Given the description of an element on the screen output the (x, y) to click on. 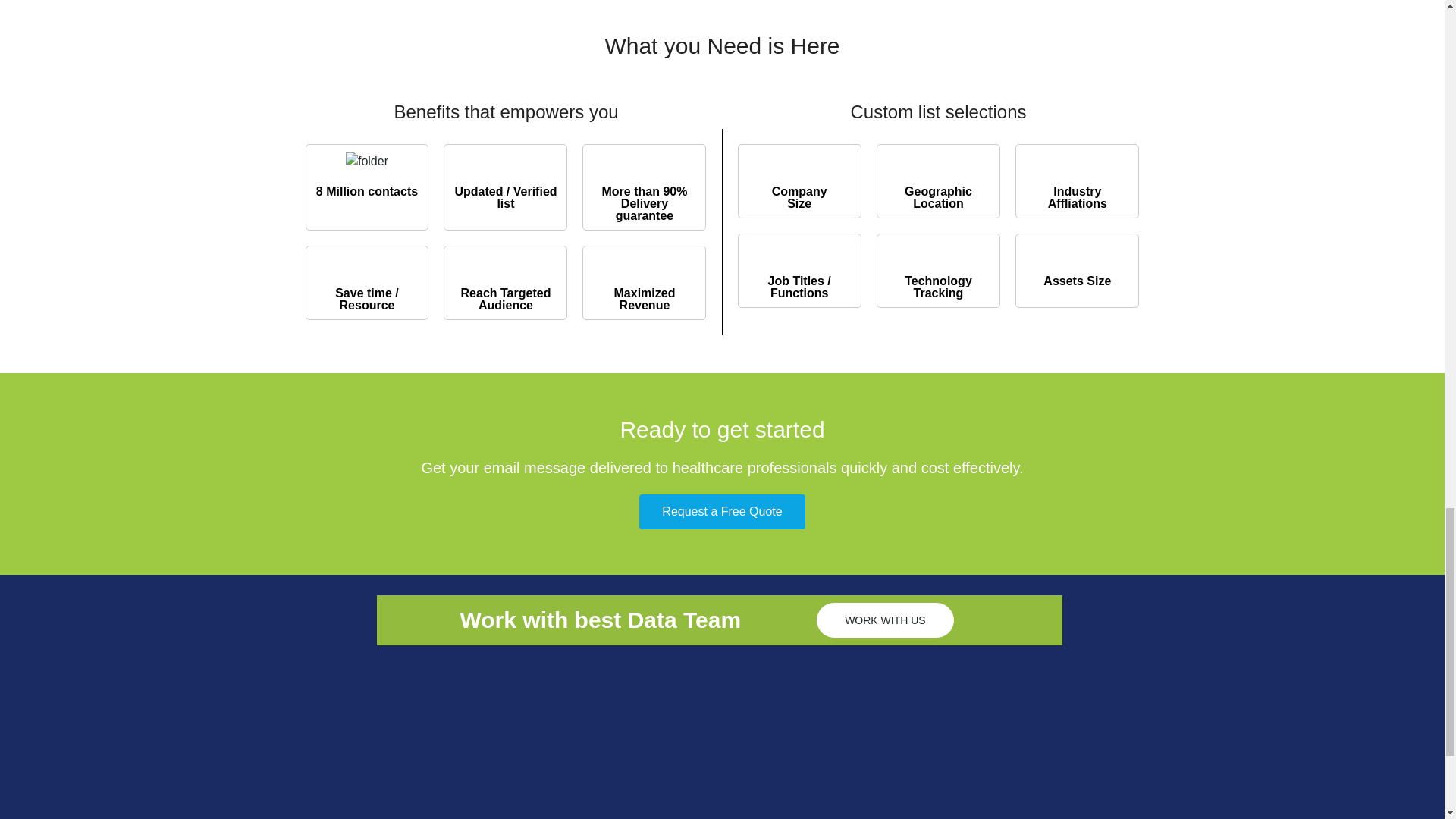
folder (367, 161)
